Given the description of an element on the screen output the (x, y) to click on. 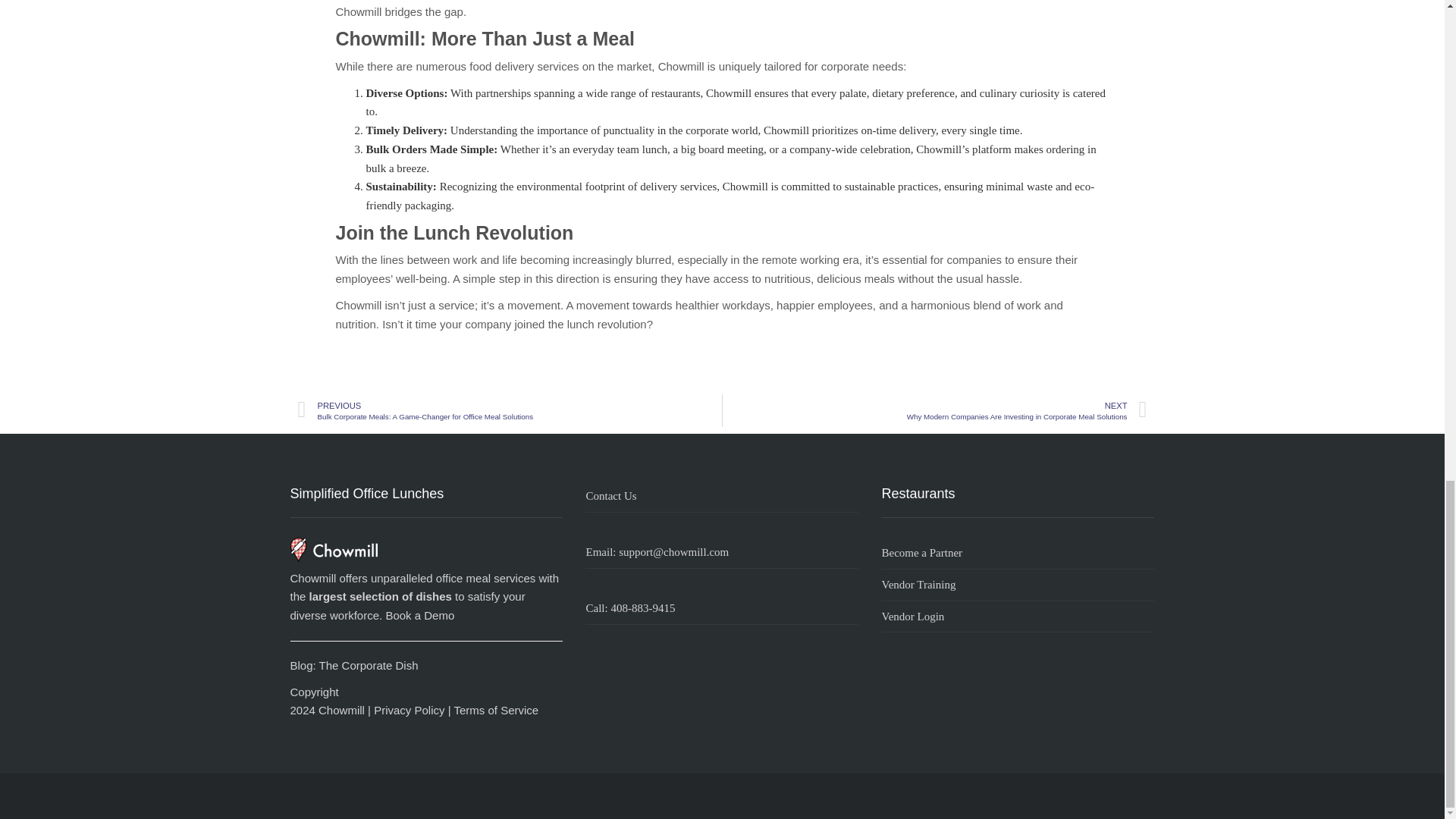
Terms of Service (495, 709)
Blog: The Corporate Dish (353, 665)
Privacy Policy (409, 709)
Vendor Login (1017, 617)
Book a Demo (419, 615)
Become a Partner (1017, 553)
Vendor Training (1017, 585)
